Given the description of an element on the screen output the (x, y) to click on. 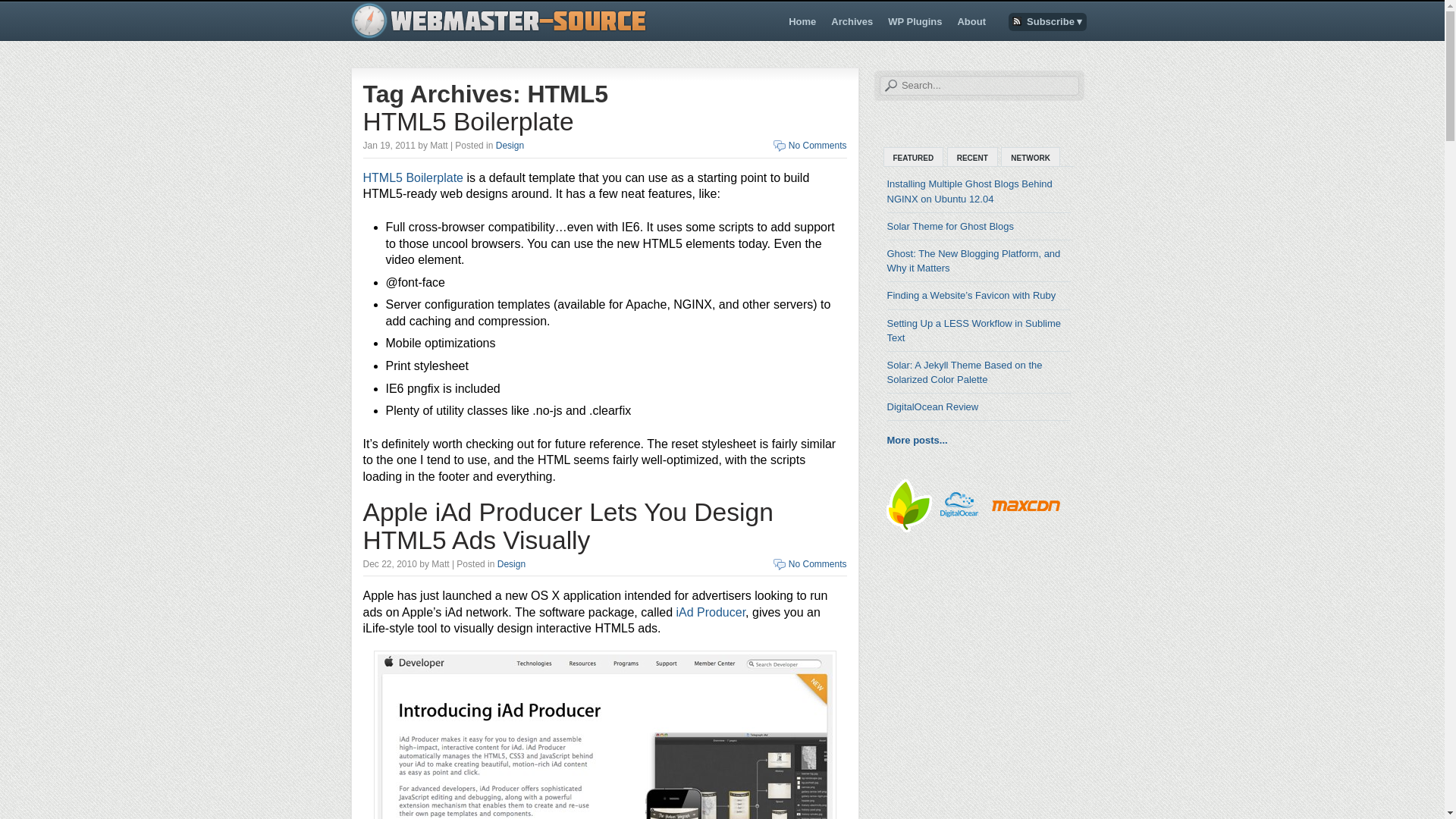
Design (510, 145)
Archives (851, 21)
About (970, 21)
iAd Producer (711, 612)
Apple iAd Producer Lets You Design HTML5 Ads Visually (567, 525)
Design (511, 563)
Apple iAd Producer Intro (603, 734)
Accelerated by MaxCDN (1026, 505)
HTML5 Boilerplate (467, 121)
Home (802, 21)
No Comments (818, 145)
WP Plugins (915, 21)
Permanent Link to "HTML5 Boilerplate" (467, 121)
No Comments (818, 563)
